Given the description of an element on the screen output the (x, y) to click on. 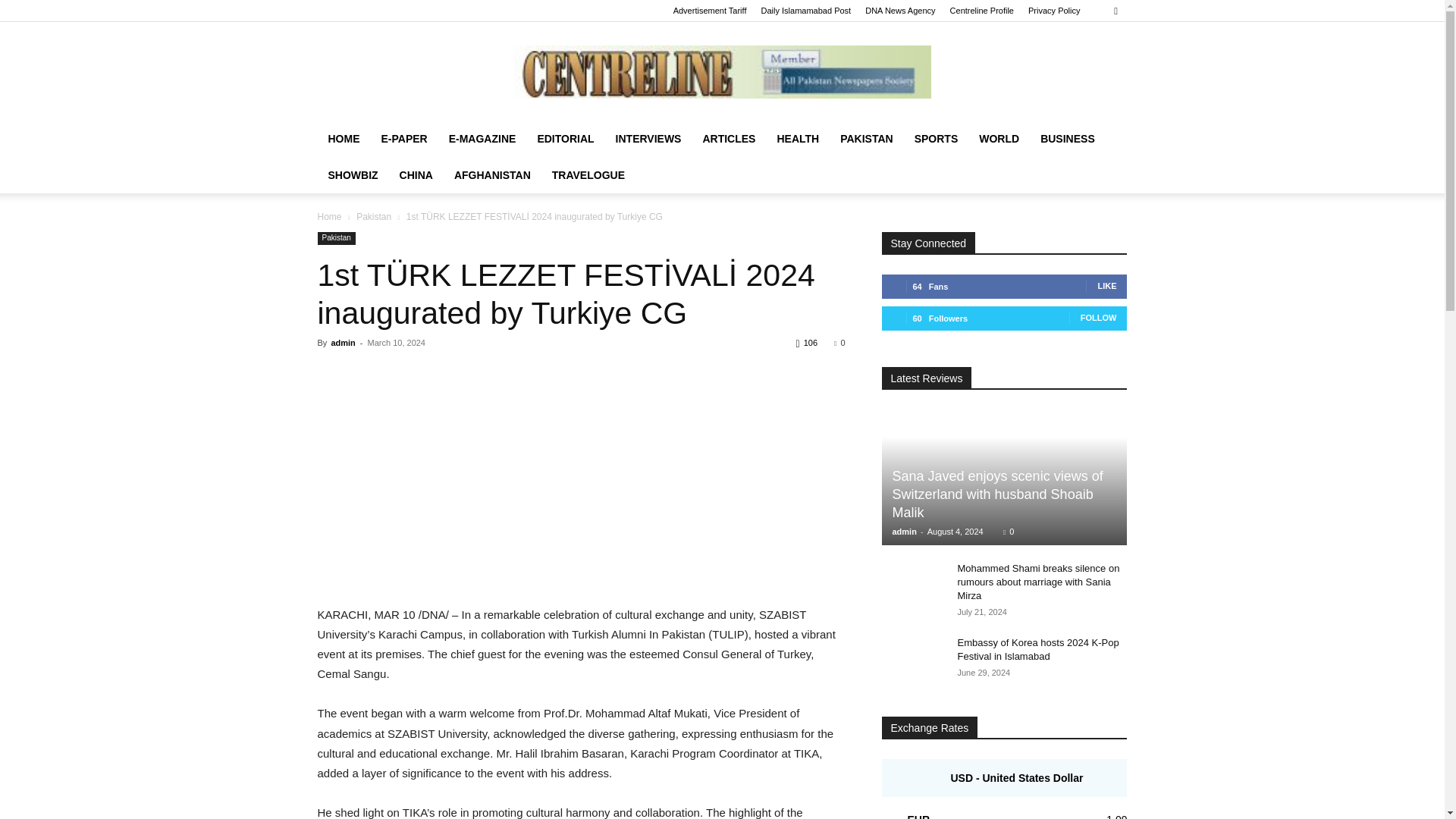
Privacy Policy (1053, 10)
EDITORIAL (564, 138)
CENTRELINE (722, 71)
HOME (343, 138)
INTERVIEWS (649, 138)
ARTICLES (728, 138)
Centreline Profile (981, 10)
Advertisement Tariff (709, 10)
Daily Islamamabad Post (806, 10)
Search (1085, 64)
DNA News Agency (899, 10)
SPORTS (936, 138)
Centreline (722, 71)
HEALTH (797, 138)
E-PAPER (403, 138)
